Given the description of an element on the screen output the (x, y) to click on. 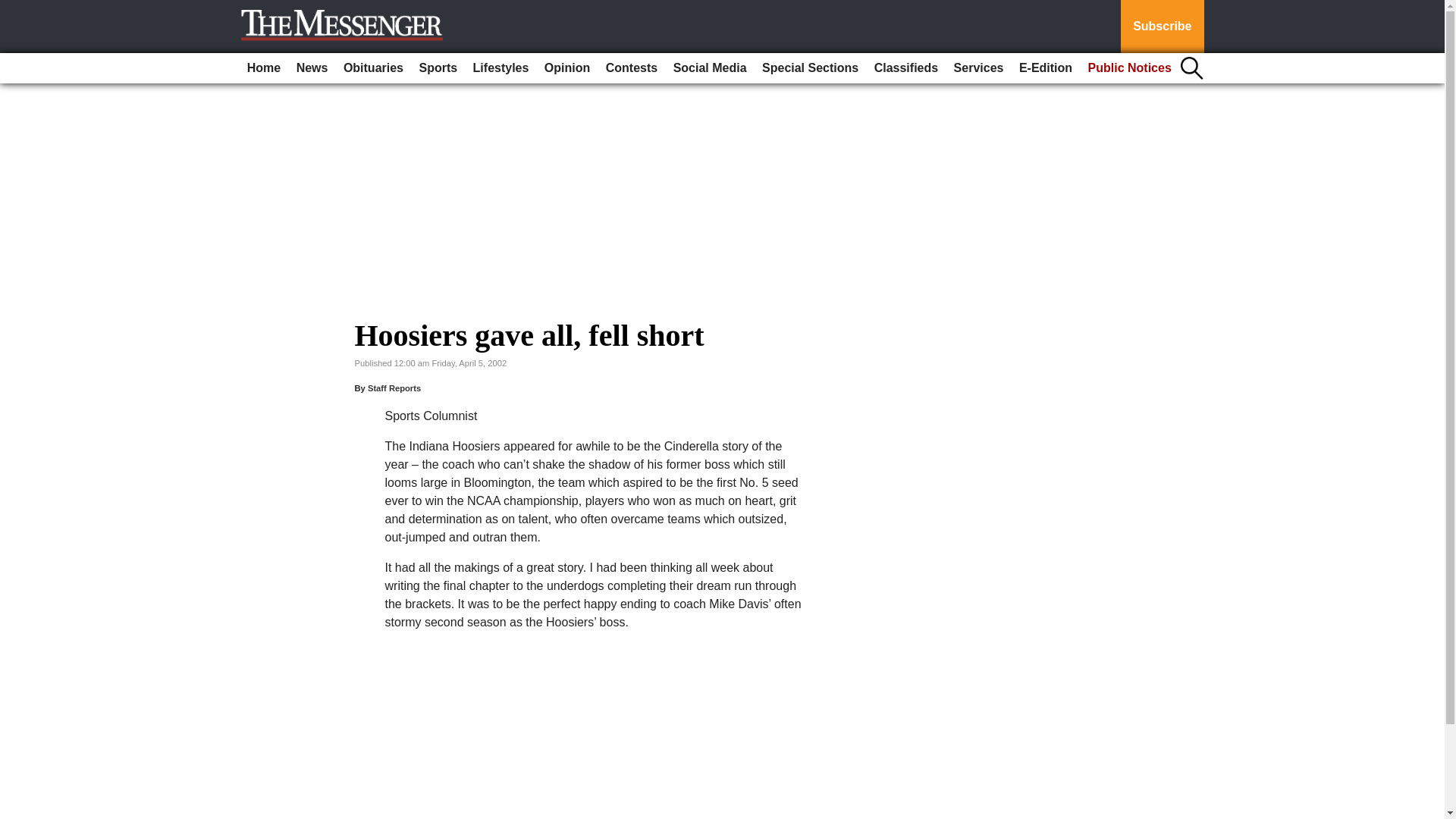
Obituaries (373, 68)
Sports (437, 68)
Subscribe (1162, 26)
News (311, 68)
Lifestyles (501, 68)
Public Notices (1129, 68)
Opinion (566, 68)
Contests (631, 68)
Special Sections (809, 68)
E-Edition (1045, 68)
